Given the description of an element on the screen output the (x, y) to click on. 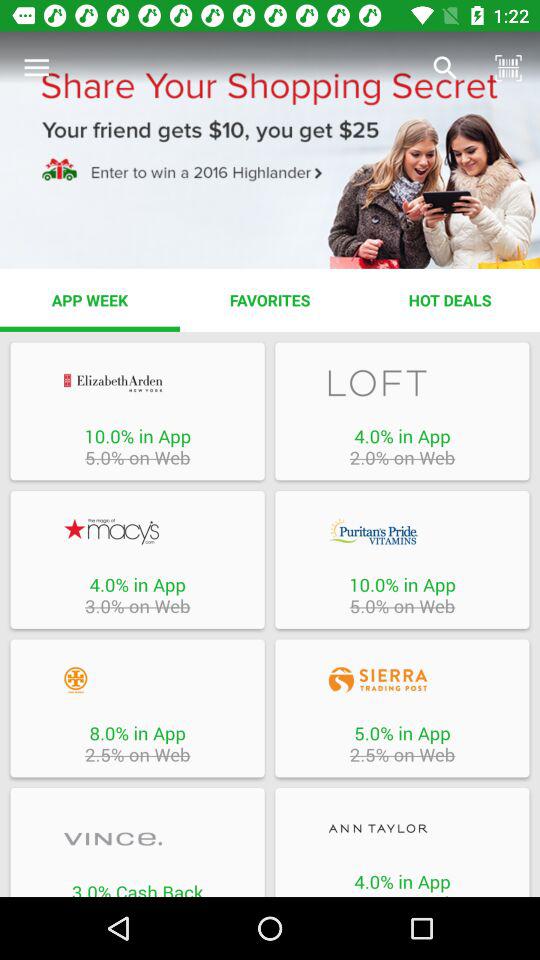
select store (402, 531)
